Given the description of an element on the screen output the (x, y) to click on. 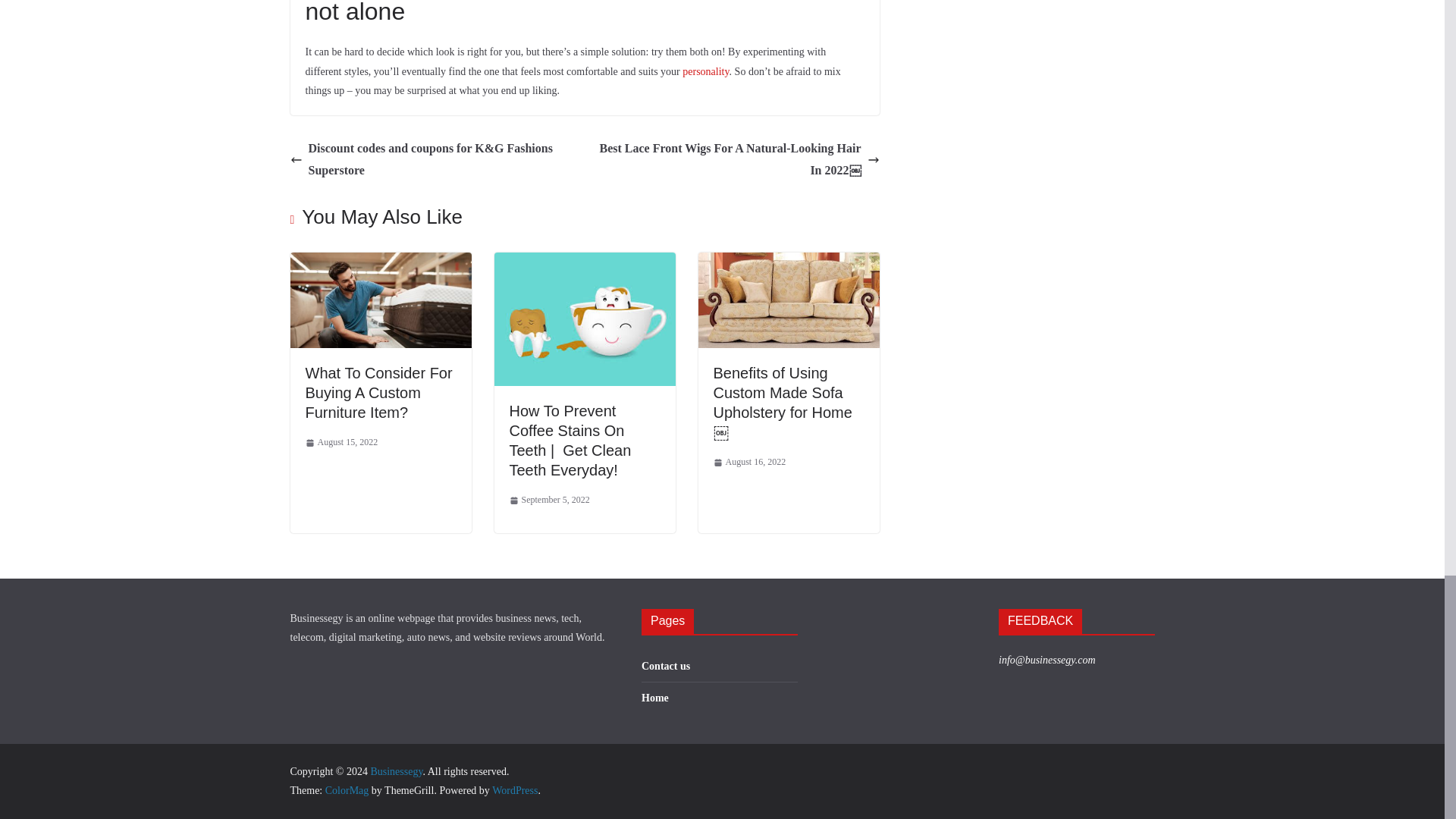
August 15, 2022 (340, 442)
August 16, 2022 (749, 462)
What To Consider For Buying A Custom Furniture Item? (379, 262)
What To Consider For Buying A Custom Furniture Item? (377, 392)
September 5, 2022 (549, 500)
9:53 am (340, 442)
What To Consider For Buying A Custom Furniture Item? (377, 392)
personality (705, 71)
